Given the description of an element on the screen output the (x, y) to click on. 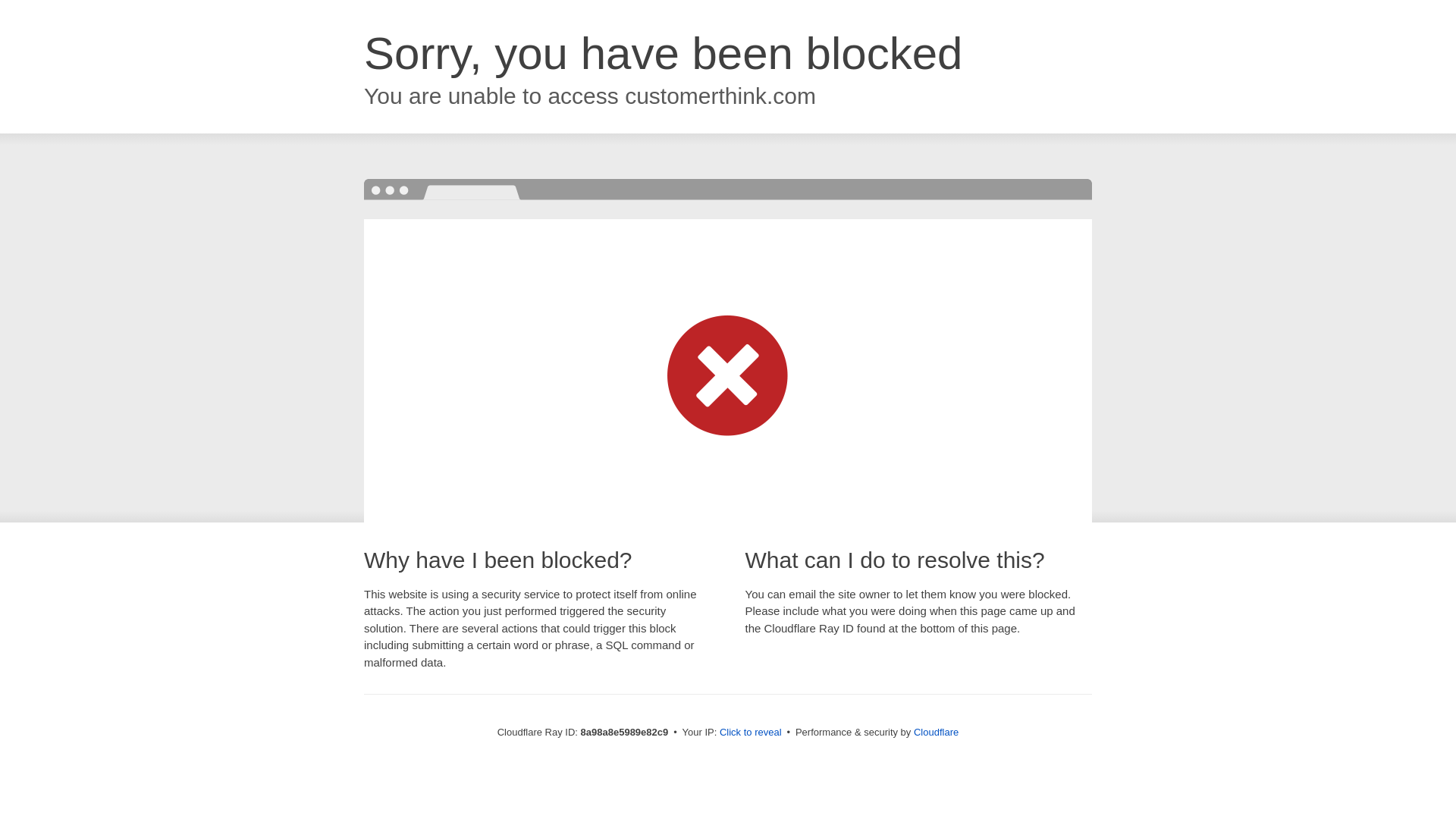
Click to reveal (750, 732)
Cloudflare (936, 731)
